Given the description of an element on the screen output the (x, y) to click on. 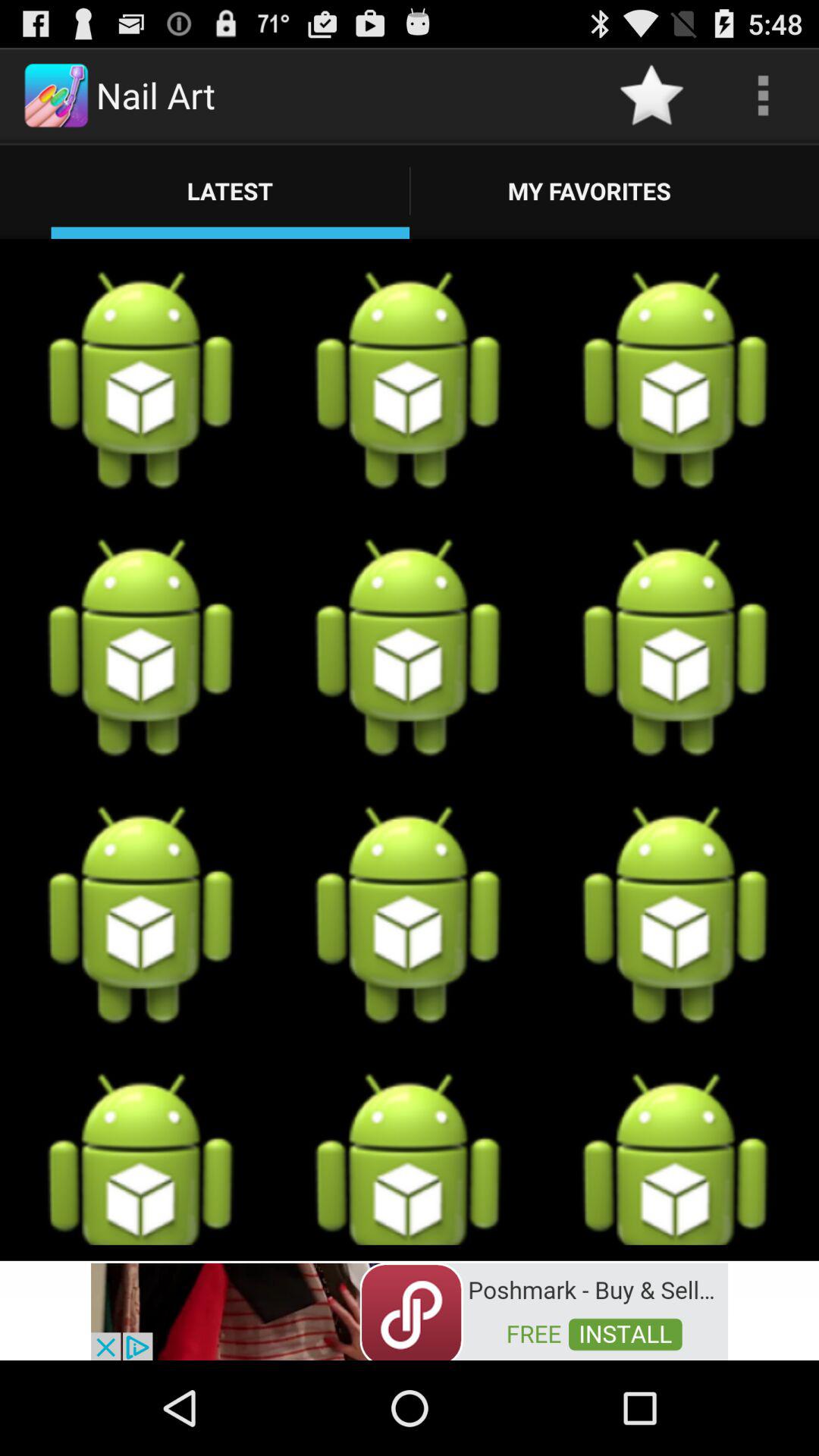
menu (763, 95)
